Given the description of an element on the screen output the (x, y) to click on. 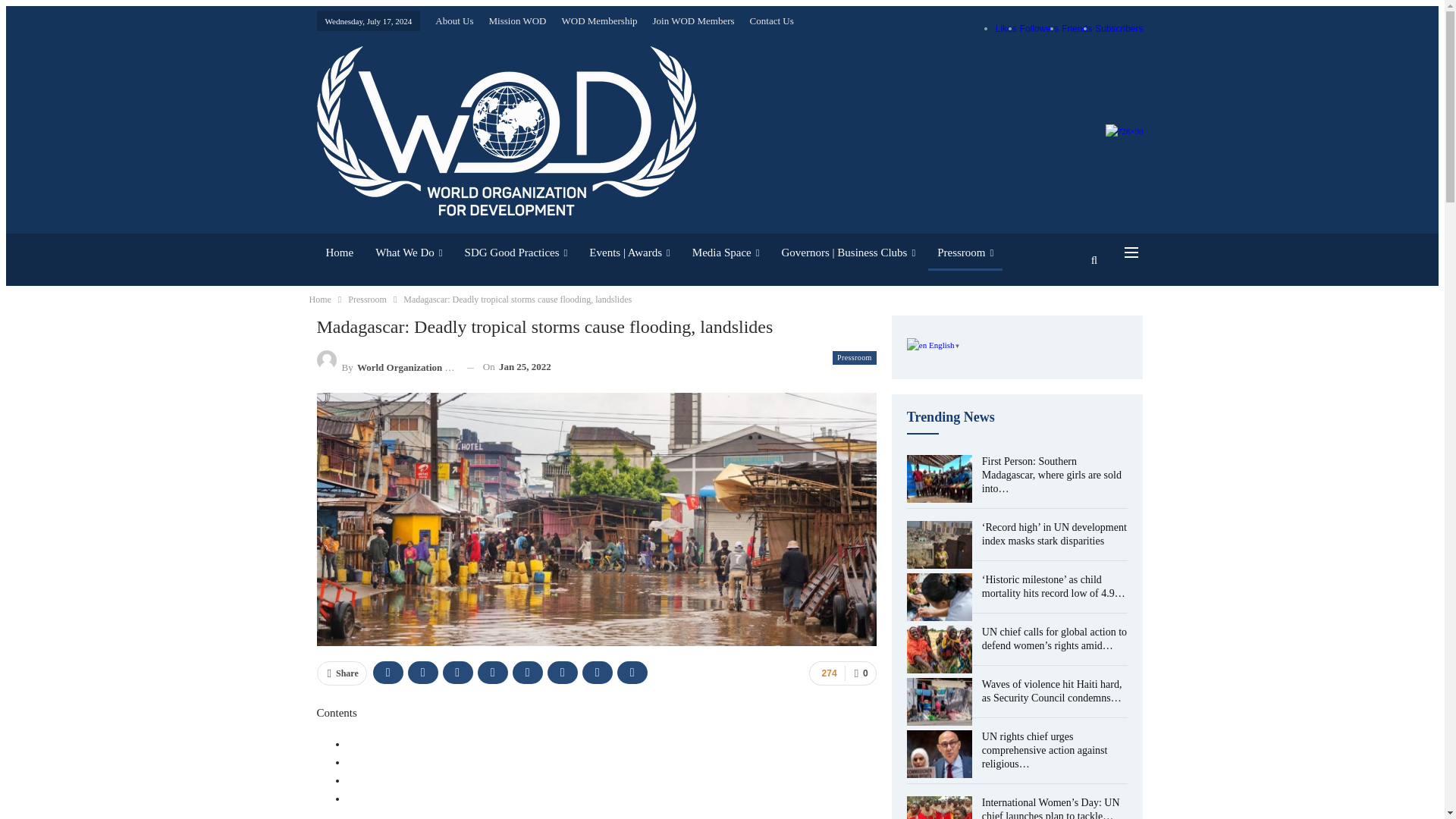
Join WOD Members (692, 20)
Followers (1039, 28)
Subscribers (1118, 28)
Contact Us (771, 20)
WOD Membership (598, 20)
Mission WOD (518, 20)
Likes (1005, 28)
Friends (1076, 28)
About Us (454, 20)
